Given the description of an element on the screen output the (x, y) to click on. 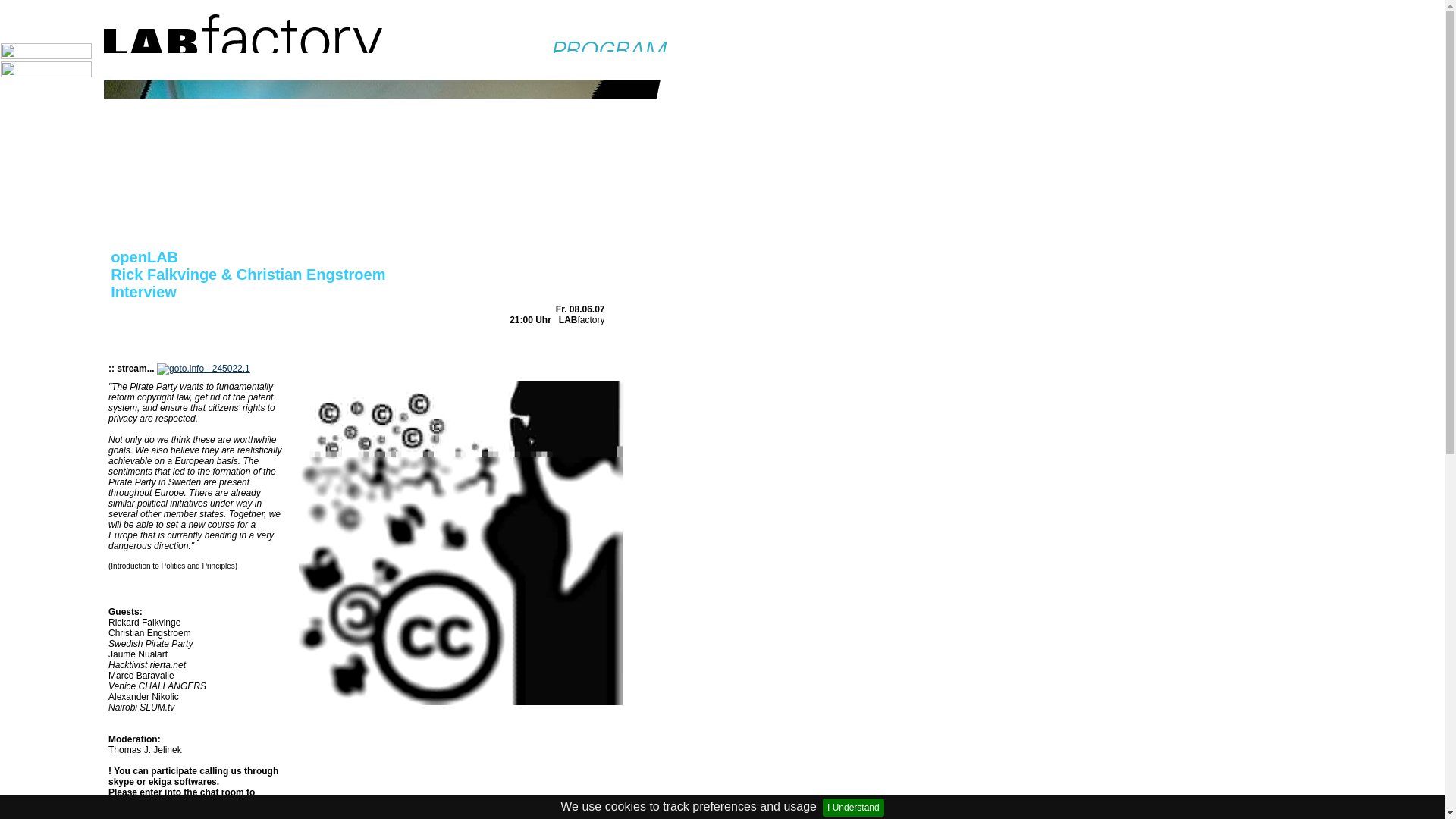
programm.hd - 243945.1 (382, 132)
copyleft - 1104844.1 (460, 543)
header programm - 242848.2 (391, 36)
I Understand (852, 807)
arrow10 - 1105851.1 (207, 803)
goto.info - 245022.1 (203, 369)
